Given the description of an element on the screen output the (x, y) to click on. 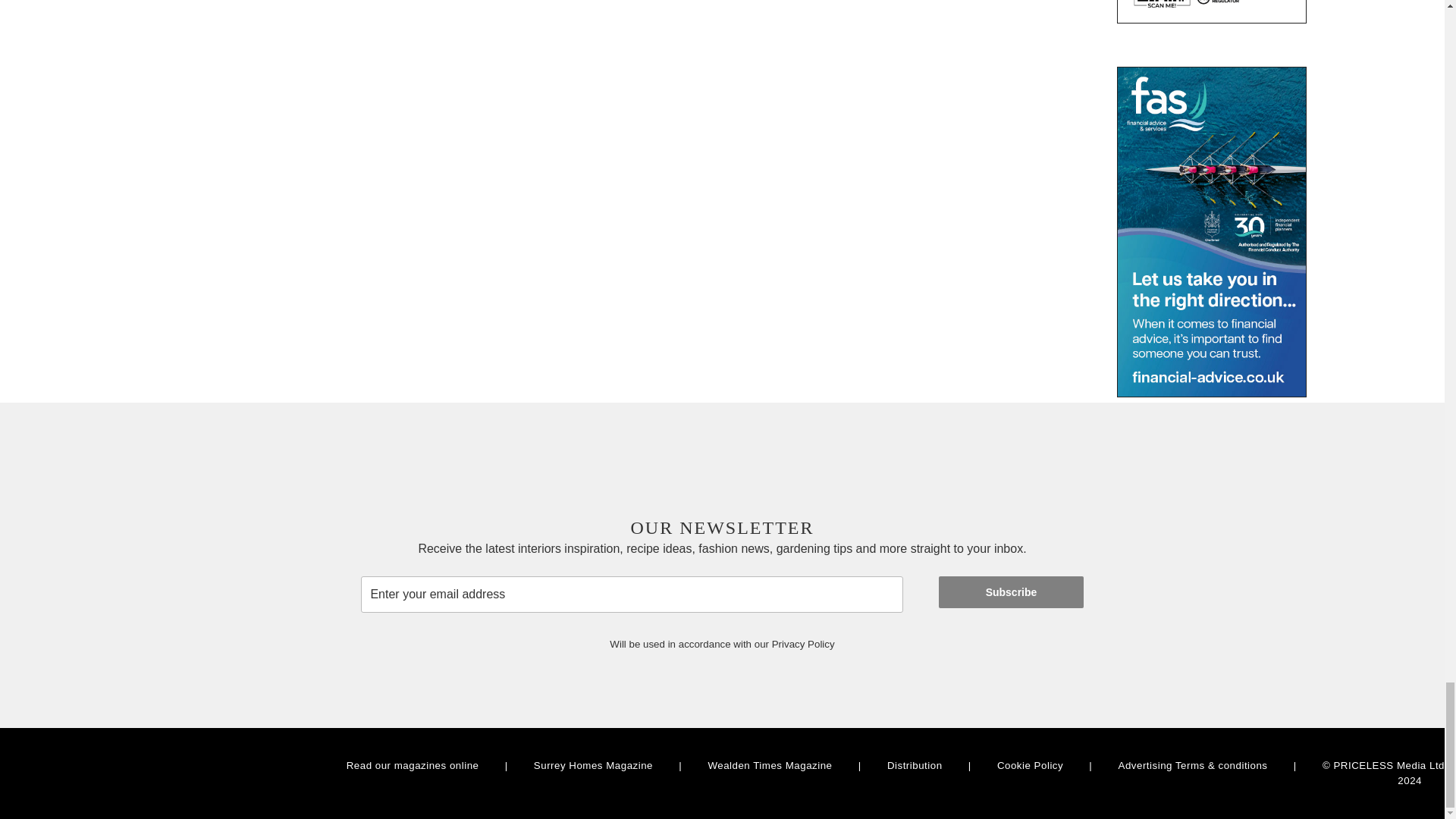
Surrey Homes Magazine - The Lifestyle magazine for Surrey (593, 765)
Distribution (914, 765)
Cookie Policy (1029, 765)
Subscribe (1011, 592)
Distribution (914, 765)
Read our magazines online (412, 765)
Read our magazines online (412, 765)
Cookie Policy (1029, 765)
Subscribe (1011, 592)
Surrey Homes Magazine (593, 765)
Wealden Times Magazine (769, 765)
